Given the description of an element on the screen output the (x, y) to click on. 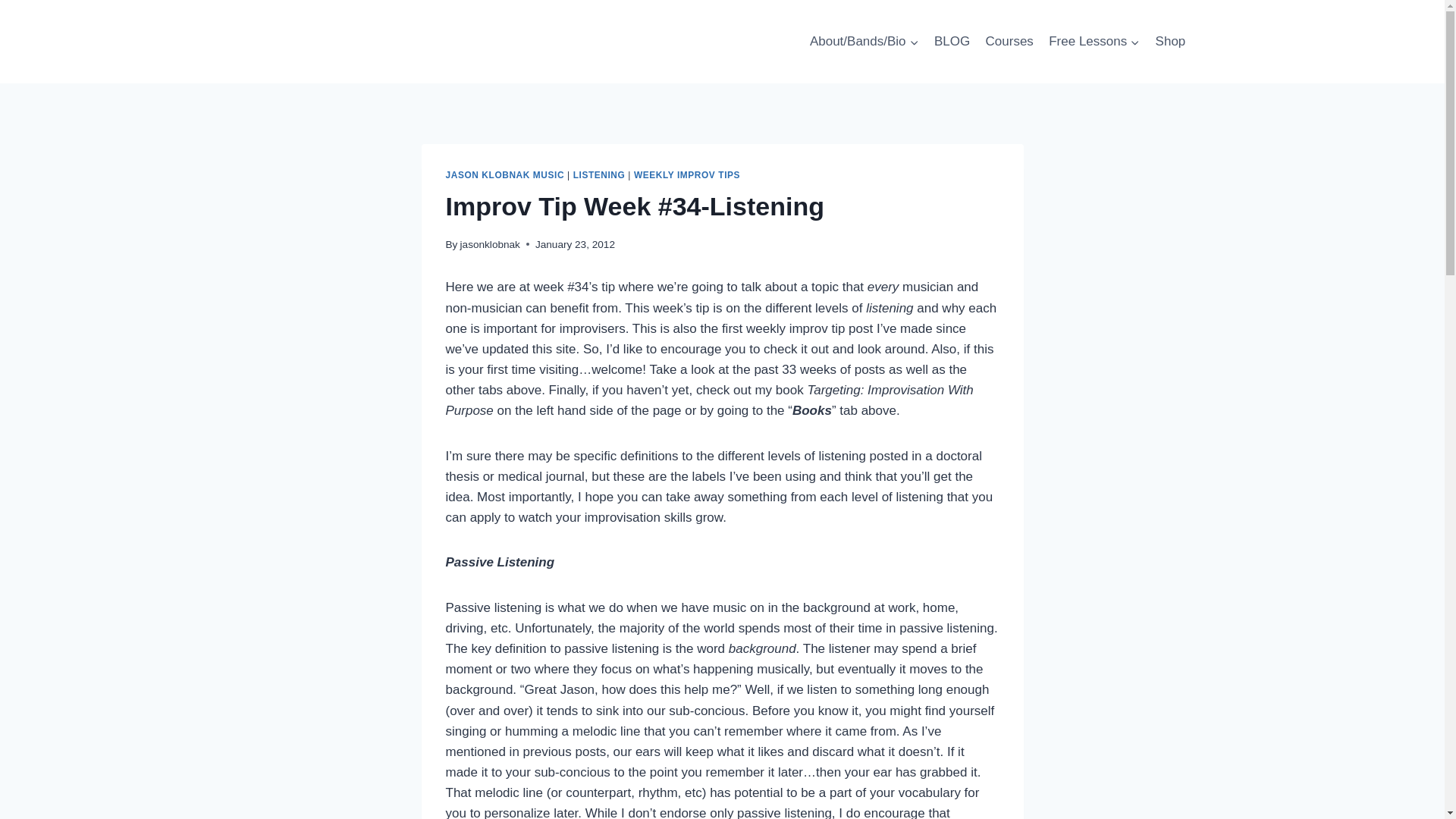
jasonklobnak (489, 244)
JASON KLOBNAK MUSIC (504, 174)
BLOG (952, 41)
Free Lessons (1094, 41)
WEEKLY IMPROV TIPS (686, 174)
Shop (1169, 41)
Courses (1008, 41)
LISTENING (599, 174)
